Given the description of an element on the screen output the (x, y) to click on. 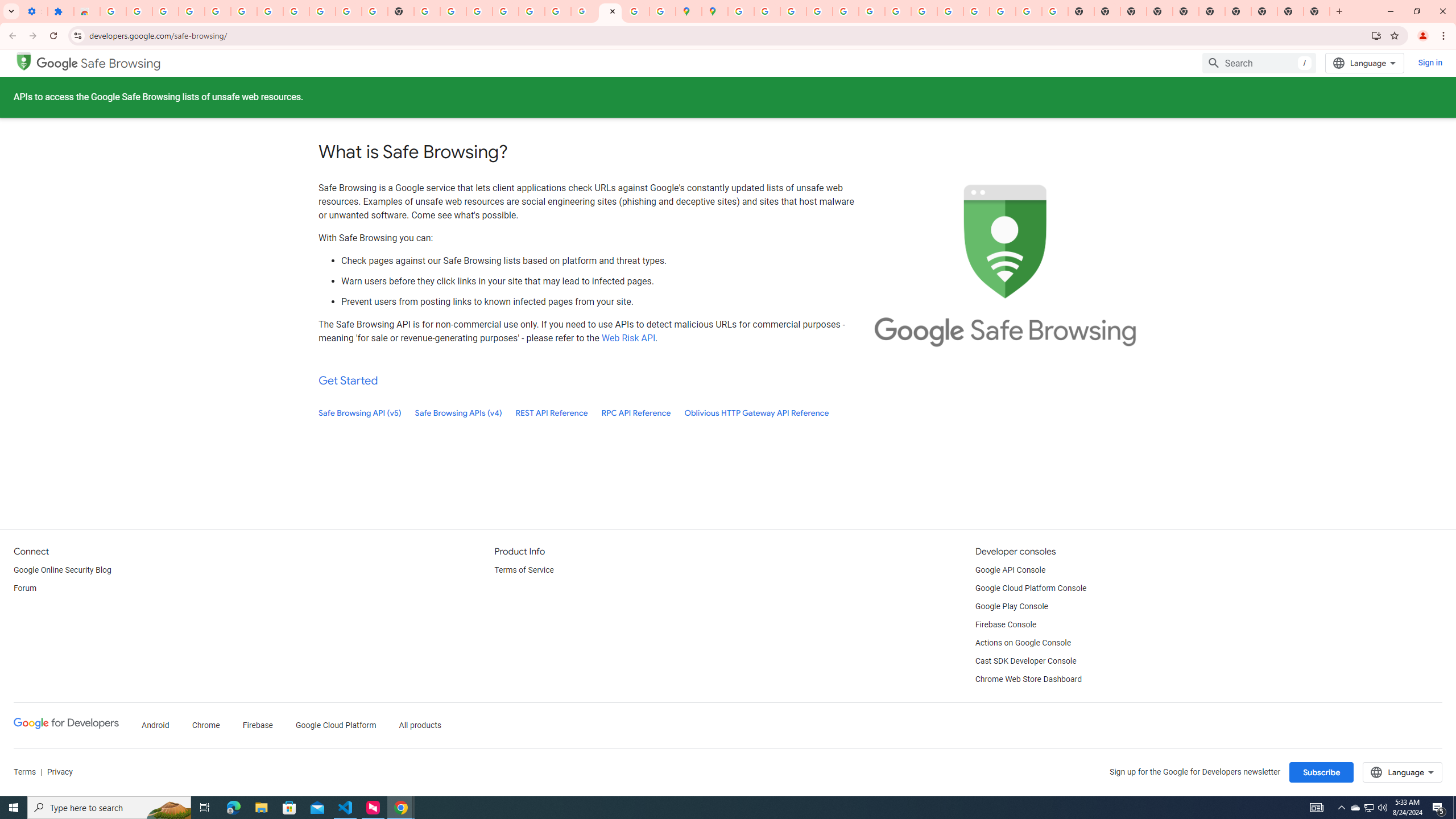
Web Risk API (628, 337)
Sign in - Google Accounts (112, 11)
Google Account (322, 11)
RPC API Reference (635, 412)
Google Cloud Platform (336, 725)
Learn how to find your photos - Google Photos Help (217, 11)
